Given the description of an element on the screen output the (x, y) to click on. 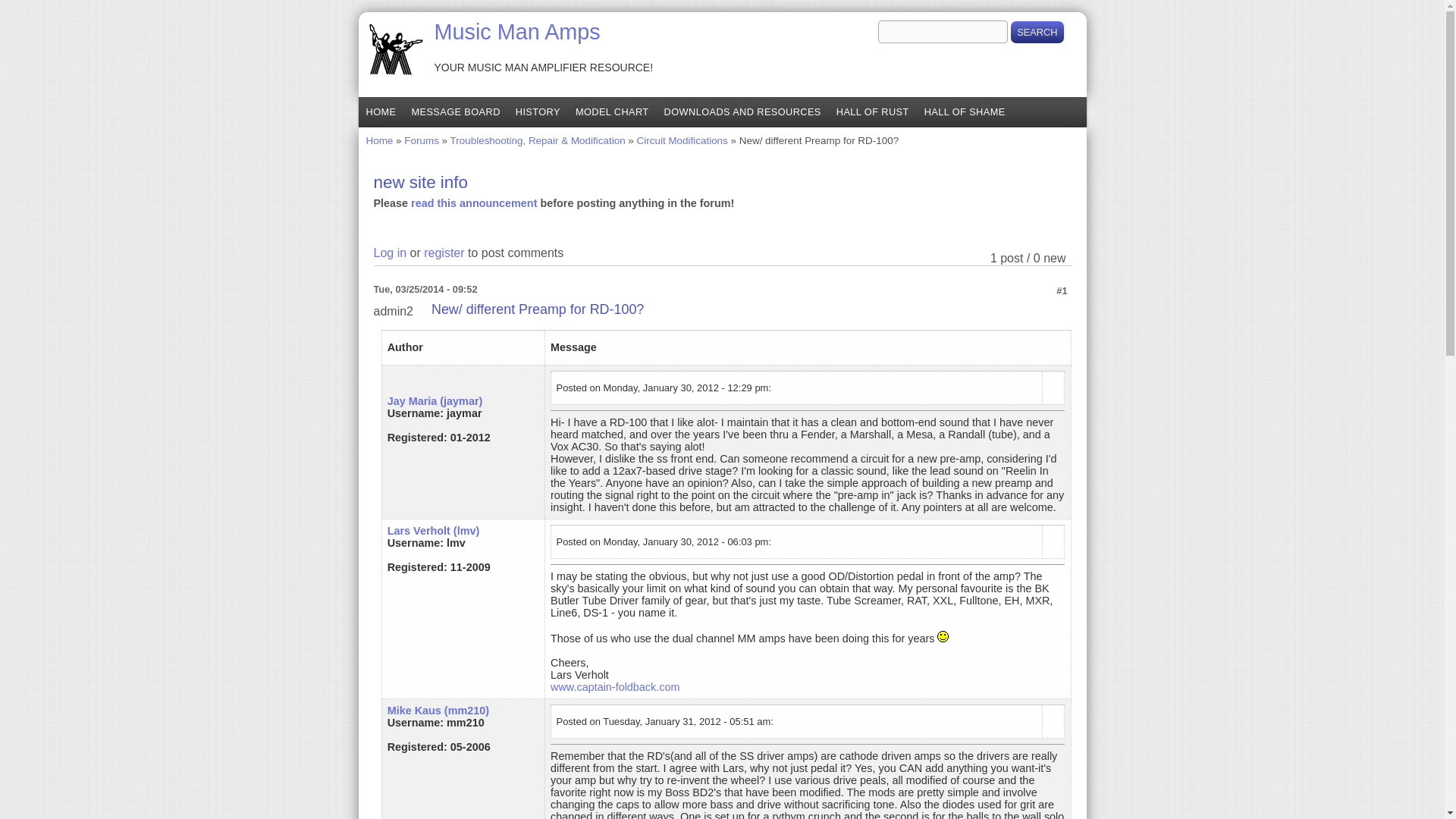
Home (516, 31)
Search (1036, 32)
read this announcement (473, 203)
www.captain-foldback.com (614, 686)
HALL OF SHAME (965, 112)
HISTORY (537, 112)
Enter the terms you wish to search for. (942, 31)
Home (379, 140)
Search (1036, 32)
HALL OF RUST (872, 112)
Forums (421, 140)
Log in (389, 252)
MESSAGE BOARD (454, 112)
MODEL CHART (611, 112)
Music Man Amps (516, 31)
